Given the description of an element on the screen output the (x, y) to click on. 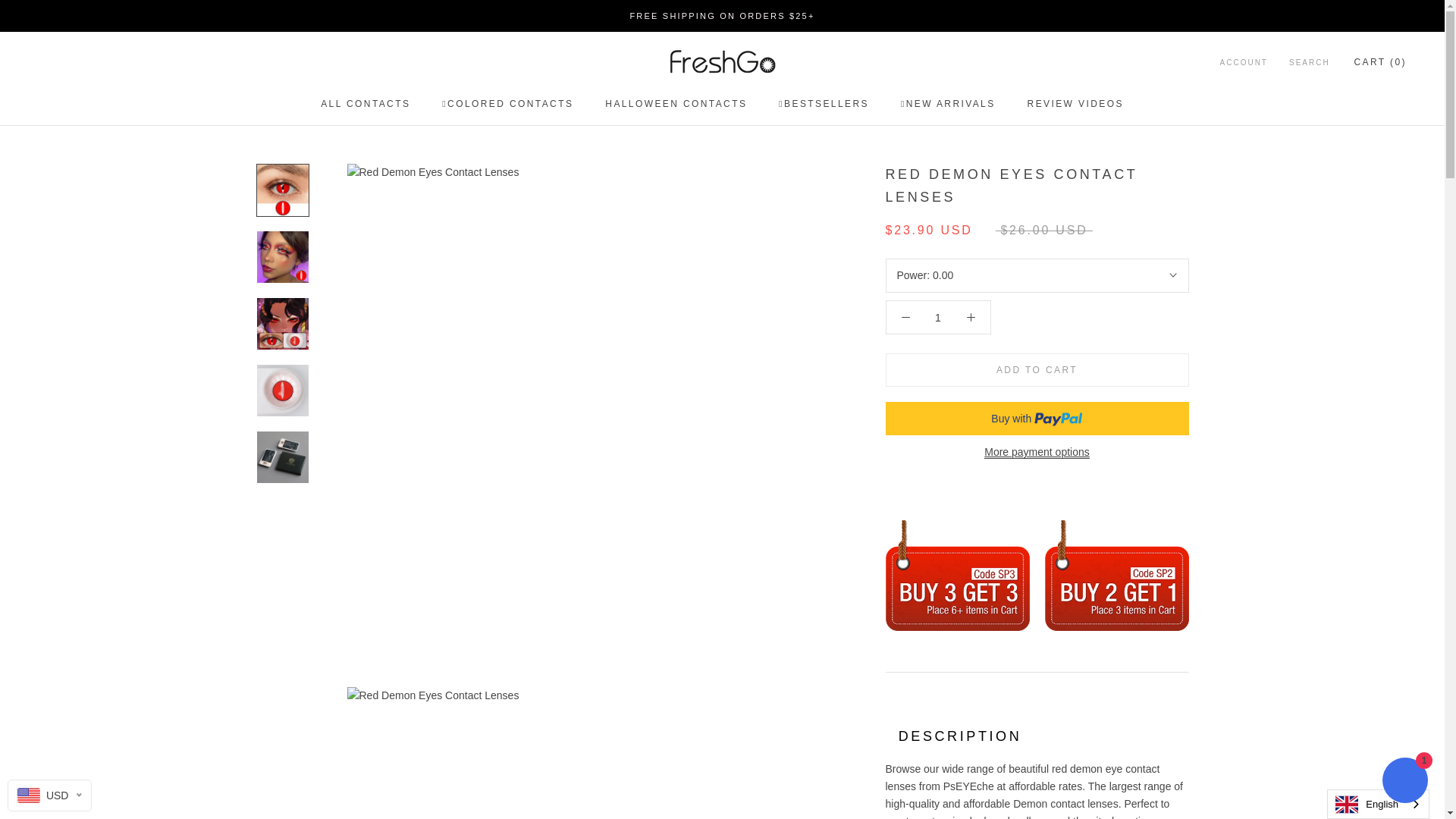
1 (938, 317)
Shopify online store chat (1404, 781)
